Given the description of an element on the screen output the (x, y) to click on. 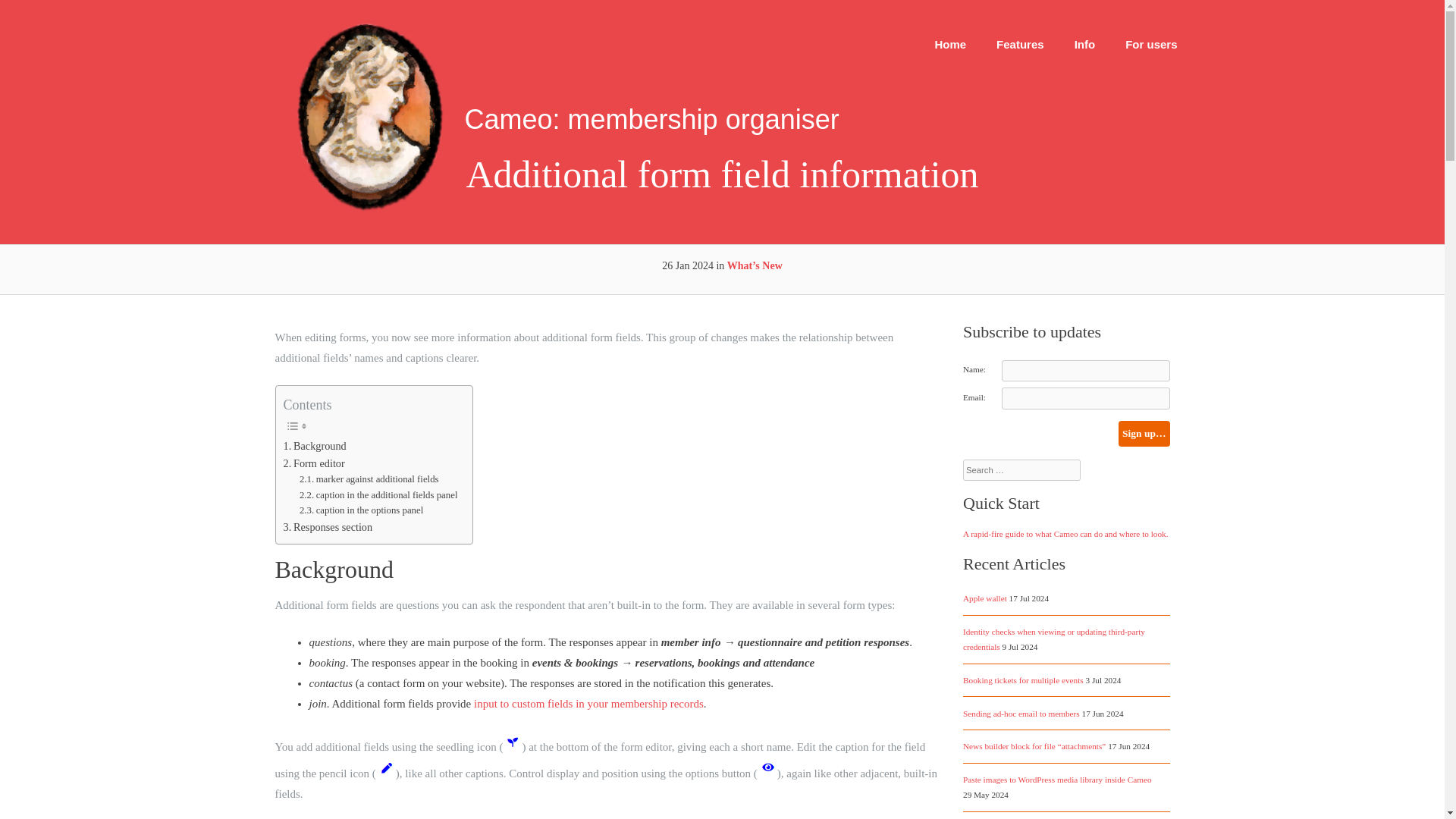
marker against additional fields (369, 479)
Background (314, 446)
Cameo: membership organiser (369, 207)
Search (37, 18)
Background (314, 446)
Responses section (327, 527)
marker against additional fields (369, 479)
Info (1084, 44)
caption in the options panel (361, 510)
Form editor (314, 463)
For users (1150, 44)
caption in the additional fields panel (378, 495)
Features (1020, 44)
Form editor (314, 463)
input to custom fields in your membership records (588, 703)
